Given the description of an element on the screen output the (x, y) to click on. 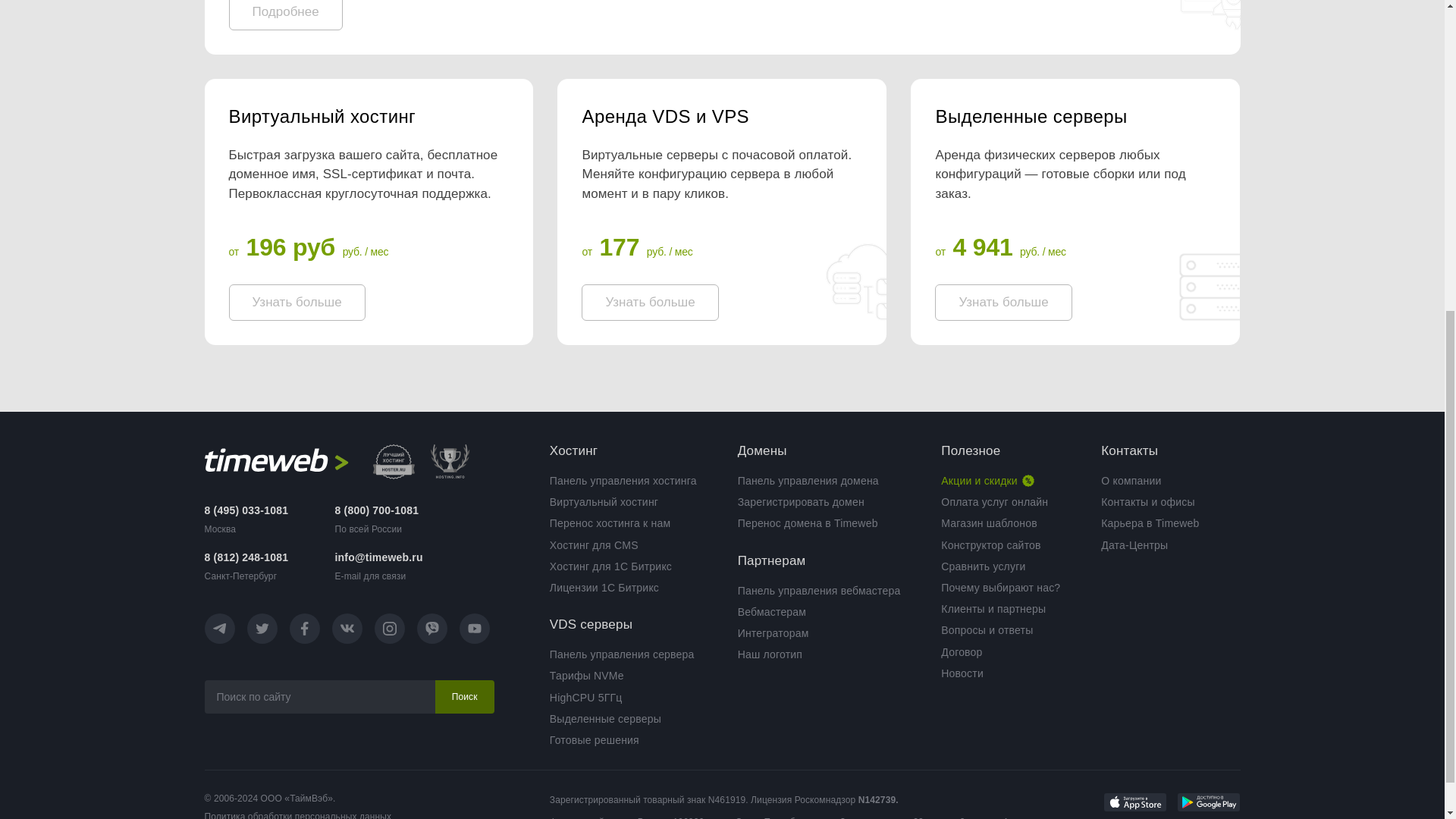
VDS (720, 116)
